Given the description of an element on the screen output the (x, y) to click on. 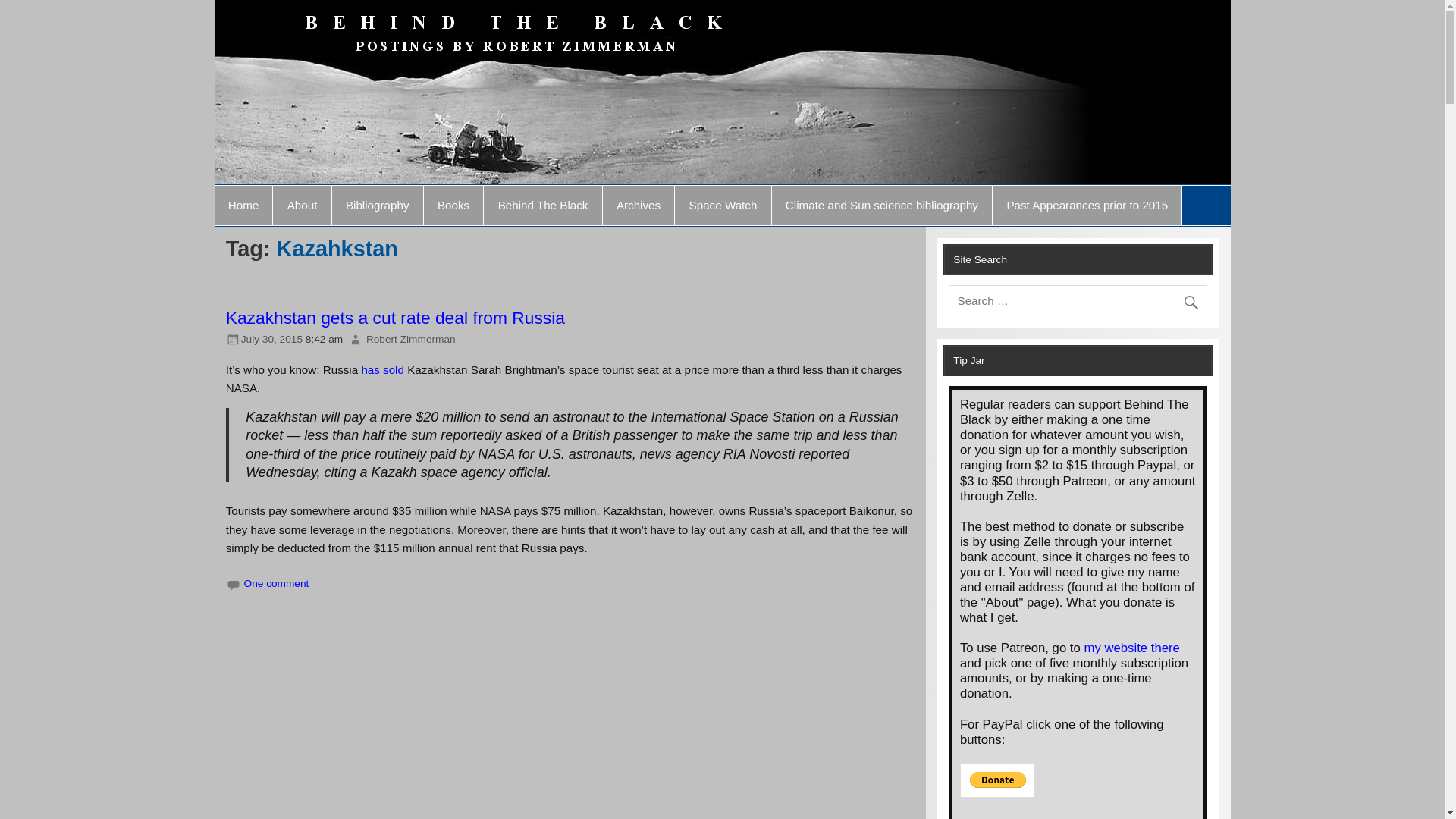
Books (453, 205)
Bibliography (377, 205)
PayPal - The safer, easier way to pay online! (997, 779)
About (301, 205)
Robert Zimmerman (410, 338)
Kazakhstan gets a cut rate deal from Russia (394, 317)
View all posts by Robert Zimmerman (410, 338)
Space Watch (722, 205)
July 30, 2015 (271, 338)
Behind The Black (542, 205)
